Given the description of an element on the screen output the (x, y) to click on. 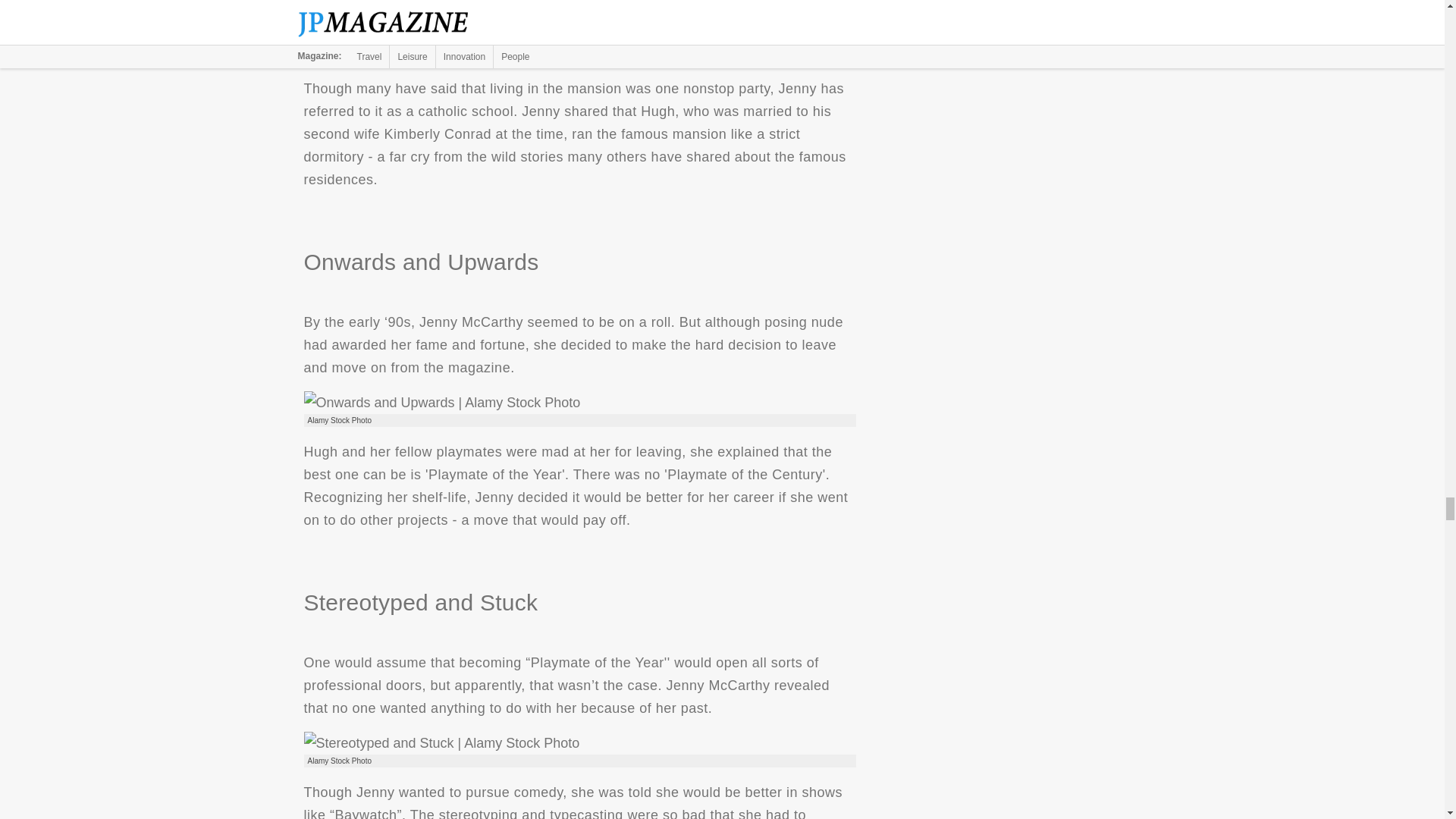
Welcome to the Playboy Mansion (579, 25)
